Given the description of an element on the screen output the (x, y) to click on. 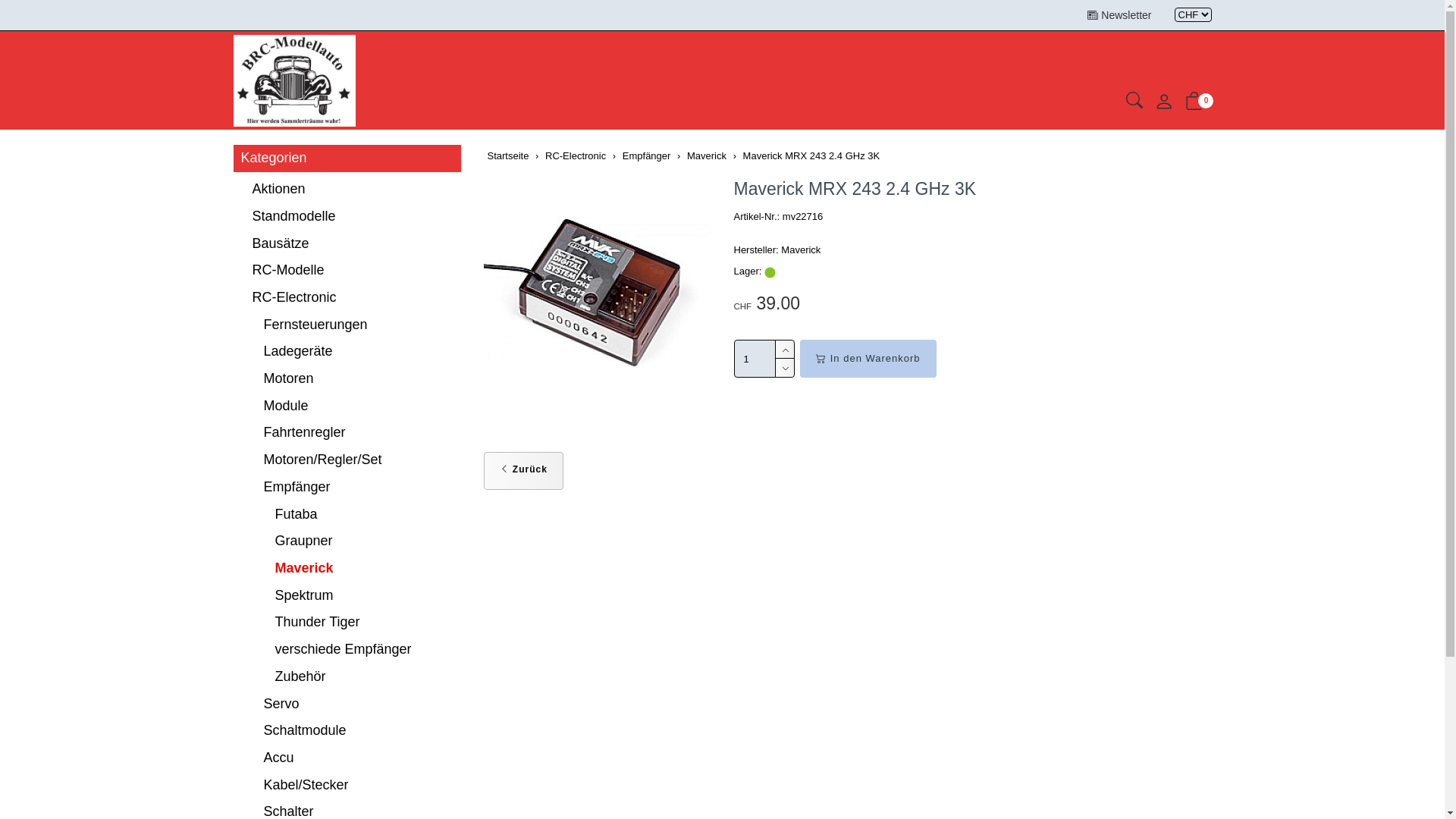
Suche Element type: hover (1134, 102)
Schaltmodule Element type: text (347, 730)
Maverick Element type: text (706, 155)
Mein Konto Element type: hover (1163, 105)
Fernsteuerungen Element type: text (347, 324)
Thunder Tiger Element type: text (347, 622)
Aktionen Element type: text (347, 189)
0 Element type: text (1194, 103)
RC-Electronic Element type: text (575, 155)
Futaba Element type: text (347, 514)
Graupner Element type: text (347, 541)
Newsletter Element type: text (1119, 15)
RC-Electronic Element type: text (347, 297)
Motoren/Regler/Set Element type: text (347, 459)
Spektrum Element type: text (347, 595)
Standmodelle Element type: text (347, 216)
In den Warenkorb Element type: text (867, 358)
Module Element type: text (347, 406)
Servo Element type: text (347, 704)
Accu Element type: text (347, 757)
RC-Modelle Element type: text (347, 270)
Motoren Element type: text (347, 378)
Startseite Element type: text (507, 155)
Menge Element type: hover (754, 358)
Maverick Element type: text (347, 568)
Kabel/Stecker Element type: text (347, 785)
Artikel an Lager Element type: hover (769, 272)
Fahrtenregler Element type: text (347, 432)
